Given the description of an element on the screen output the (x, y) to click on. 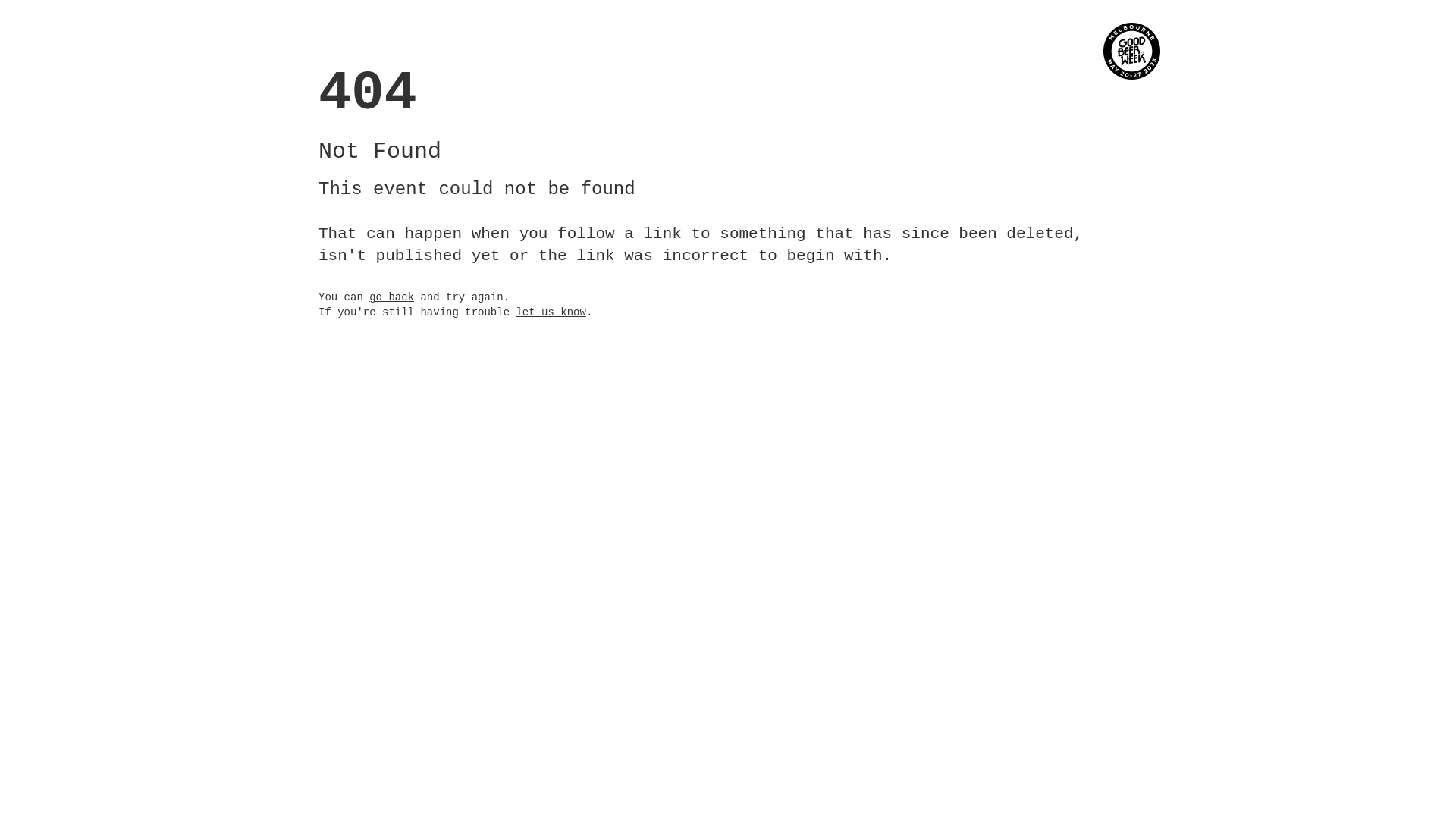
let us know Element type: text (550, 312)
go back Element type: text (391, 297)
